Given the description of an element on the screen output the (x, y) to click on. 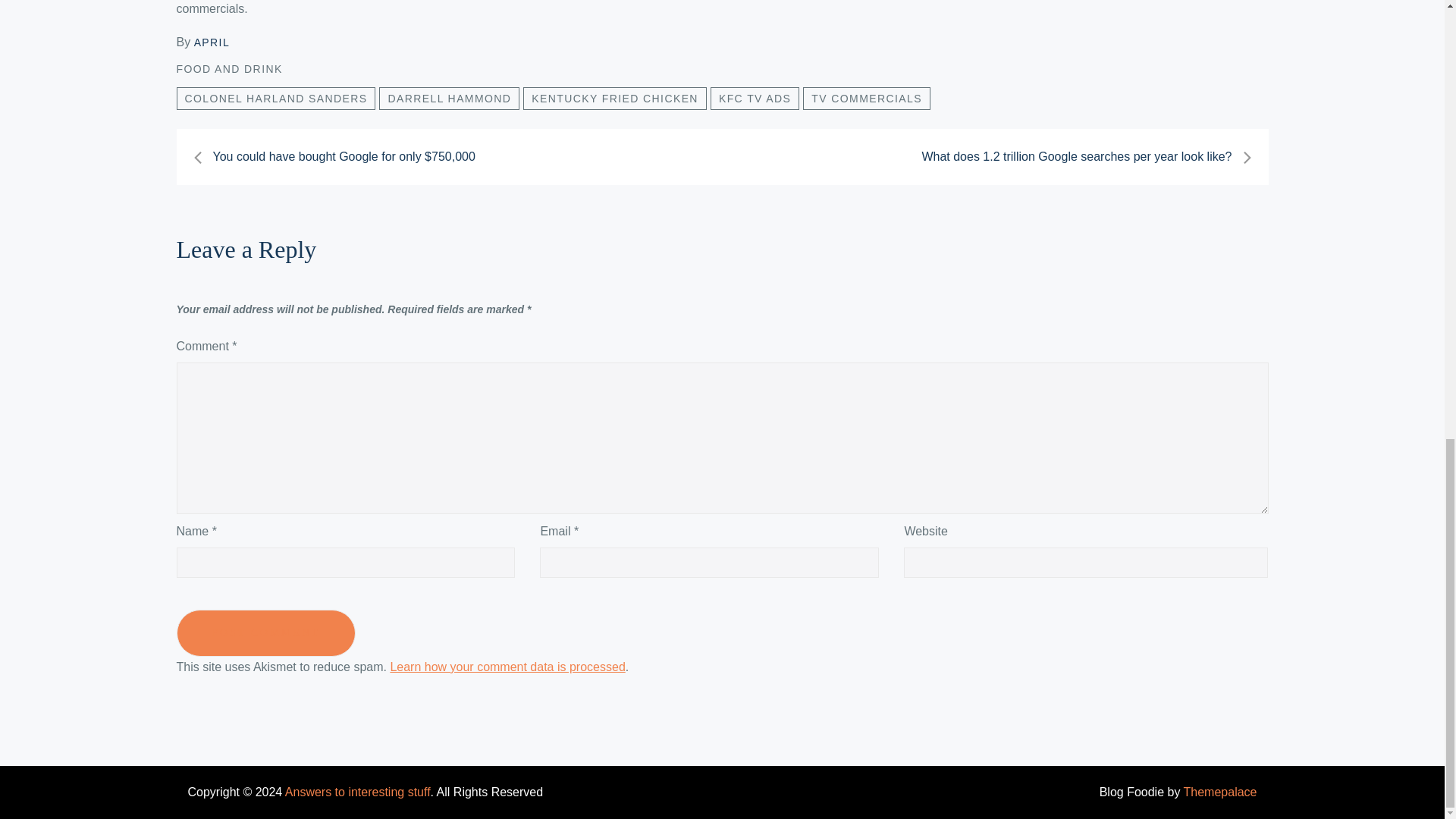
Answers to interesting stuff (357, 791)
Themepalace (1220, 791)
Post Comment (265, 632)
APRIL (211, 42)
KENTUCKY FRIED CHICKEN (614, 97)
DARRELL HAMMOND (448, 97)
COLONEL HARLAND SANDERS (275, 97)
KFC TV ADS (754, 97)
Learn how your comment data is processed (507, 666)
FOOD AND DRINK (229, 69)
Post Comment (265, 632)
TV COMMERCIALS (866, 97)
